Given the description of an element on the screen output the (x, y) to click on. 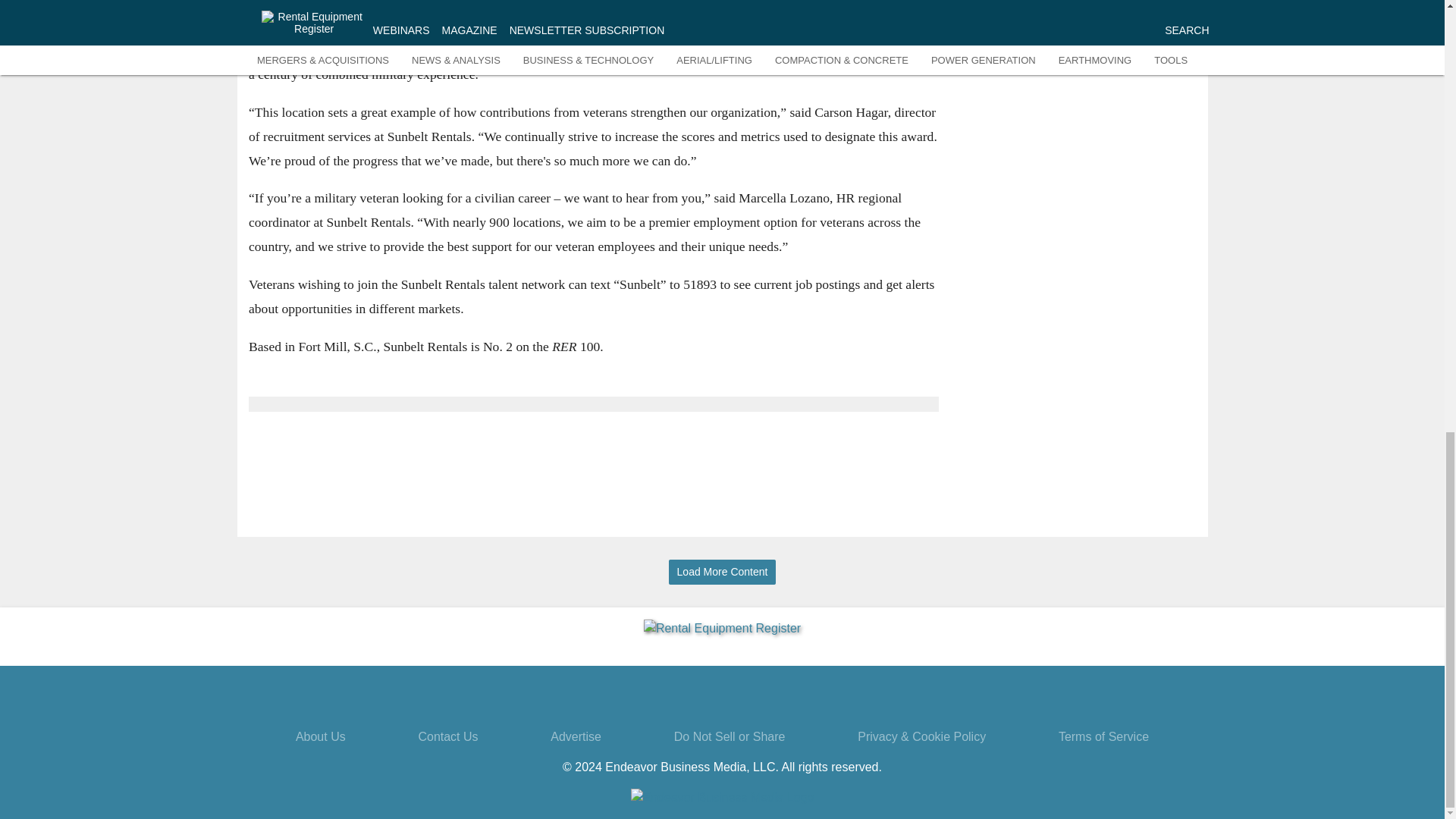
Load More Content (722, 571)
United Rentals 2022 Best Places To Work (1012, 14)
Rental News (1129, 45)
